Given the description of an element on the screen output the (x, y) to click on. 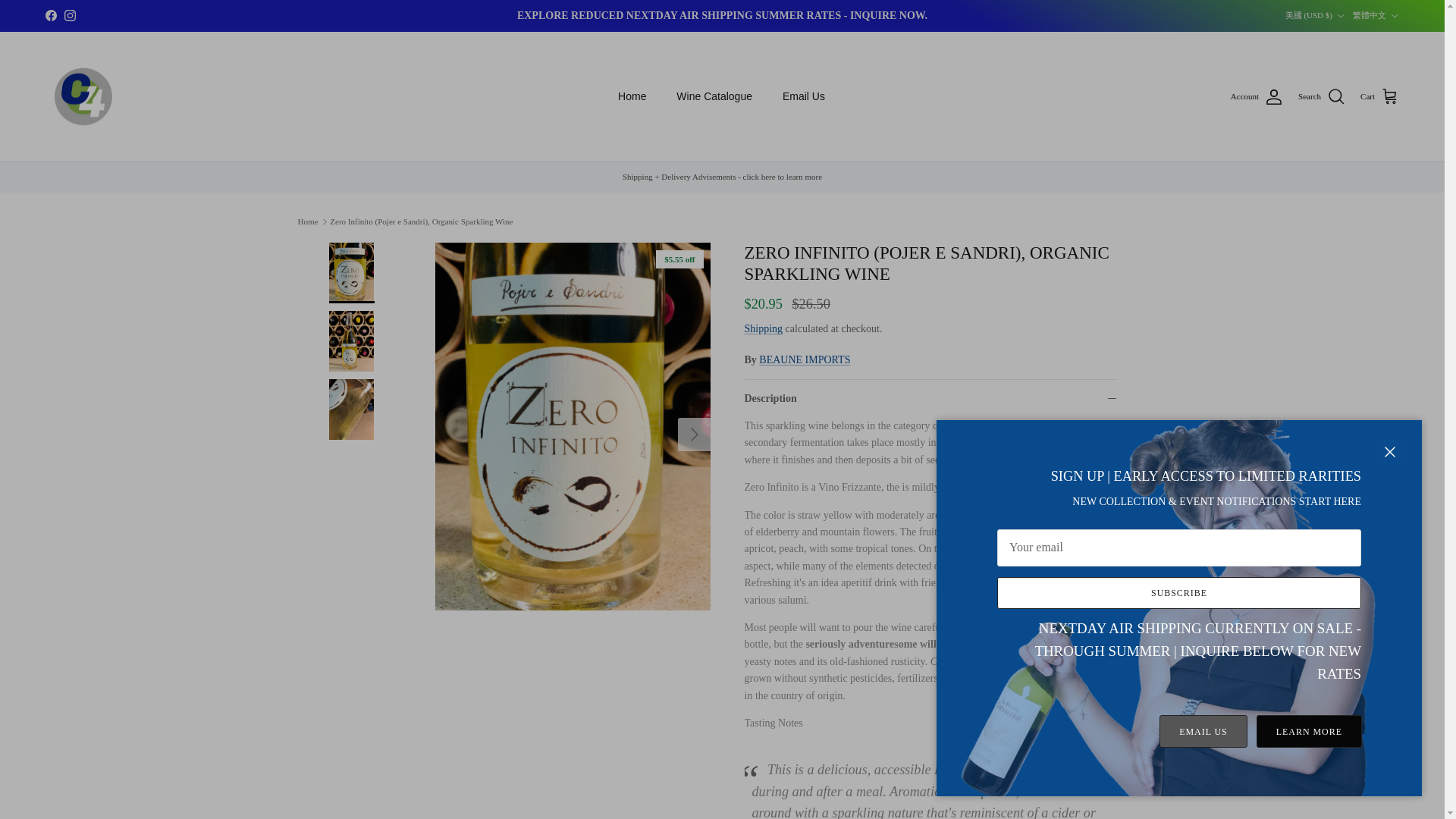
Email Us (803, 96)
Account (1256, 96)
Search (1321, 96)
Home (631, 96)
Facebook (50, 15)
Wine Catalogue (713, 96)
Instagram (69, 15)
Cart (1379, 96)
